Given the description of an element on the screen output the (x, y) to click on. 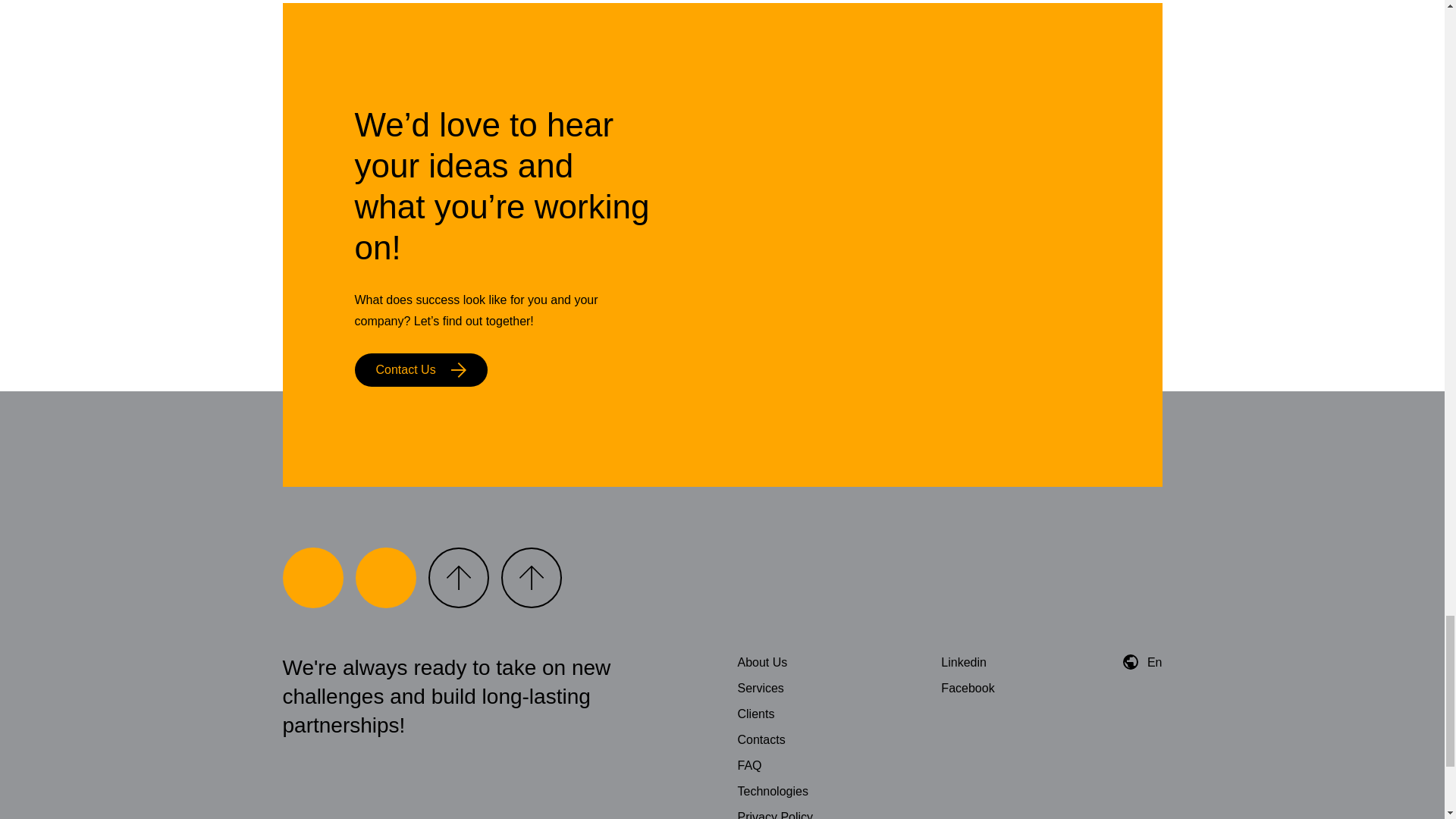
Facebook (967, 687)
Contact Us (421, 369)
FAQ (748, 765)
Linkedin (963, 662)
Privacy Policy (774, 814)
Clients (755, 713)
Technologies (772, 790)
Contacts (760, 739)
Services (759, 687)
About Us (761, 662)
